Given the description of an element on the screen output the (x, y) to click on. 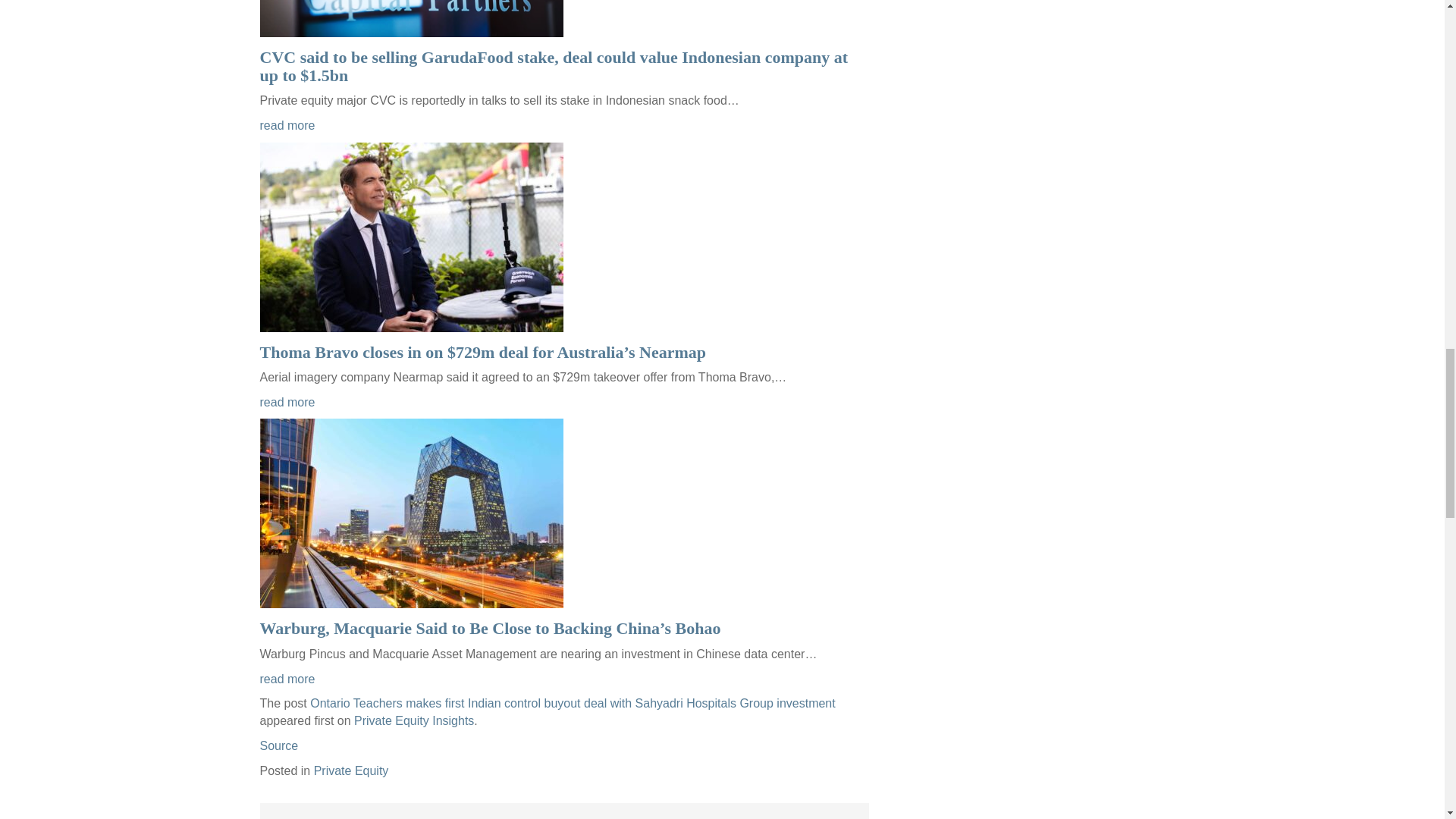
read more (286, 401)
read more (286, 678)
read more (286, 124)
